Given the description of an element on the screen output the (x, y) to click on. 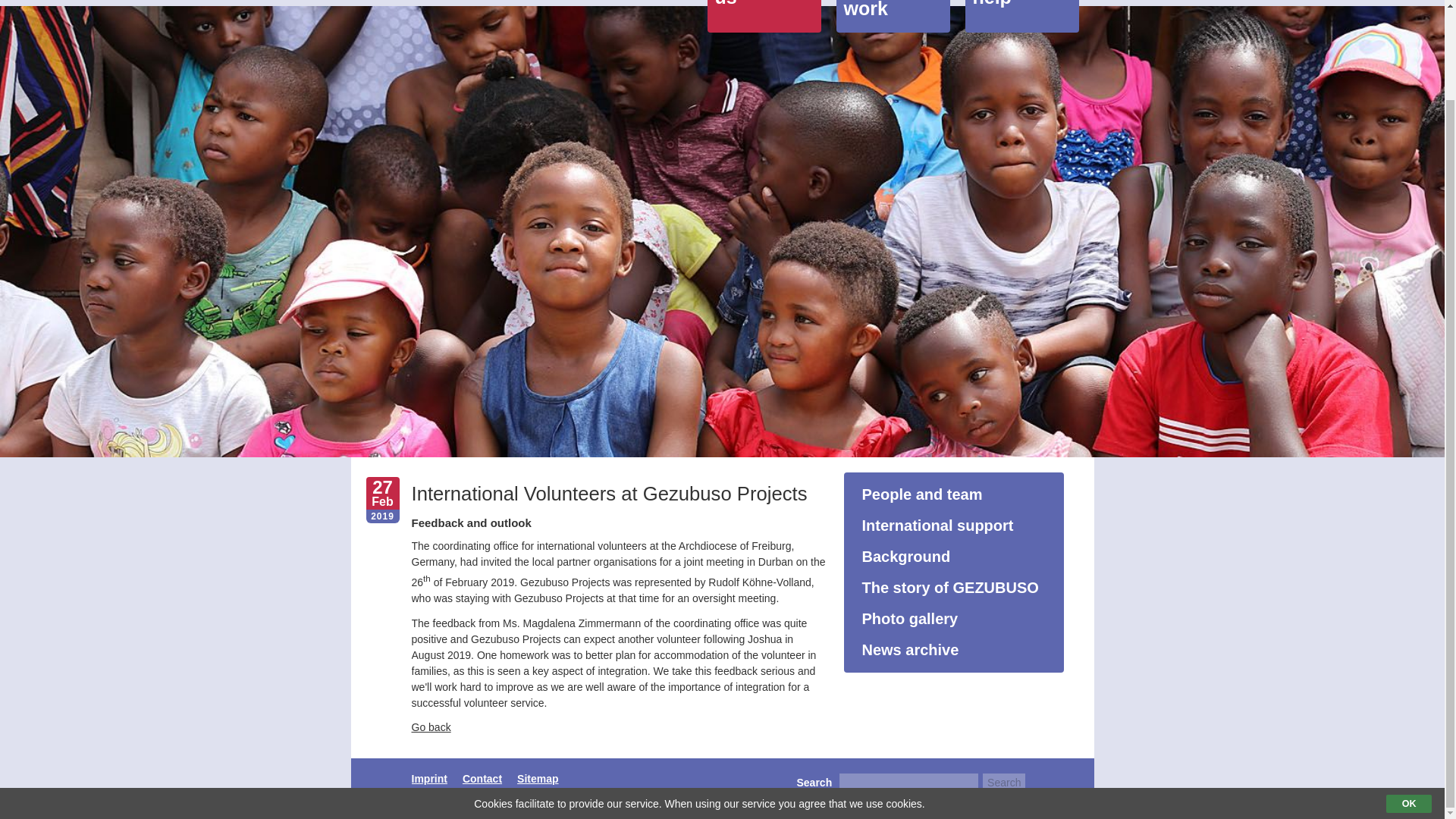
About us (763, 16)
Newsarchiv (952, 650)
Imprint (428, 778)
The story of GEZUBUSO (952, 587)
Go back (429, 727)
History (952, 587)
Photo gallery (952, 619)
Contact (482, 778)
International Support (952, 525)
News archive (952, 650)
About our work (892, 16)
Sitemap (536, 778)
How to help (1020, 16)
